Given the description of an element on the screen output the (x, y) to click on. 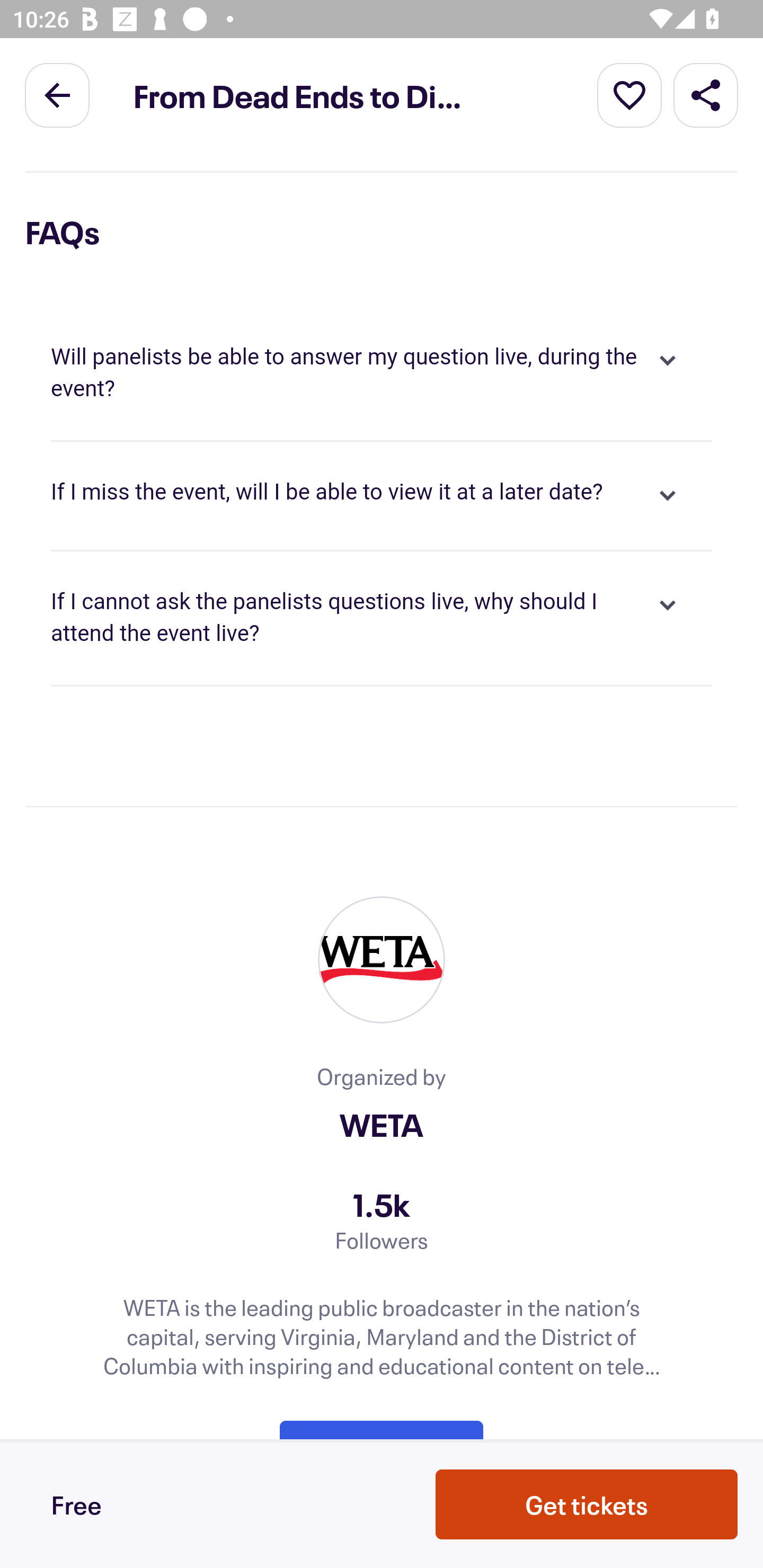
Back (57, 94)
More (629, 94)
Share (705, 94)
Organizer profile picture (381, 959)
WETA (381, 1124)
Get tickets (586, 1504)
